Given the description of an element on the screen output the (x, y) to click on. 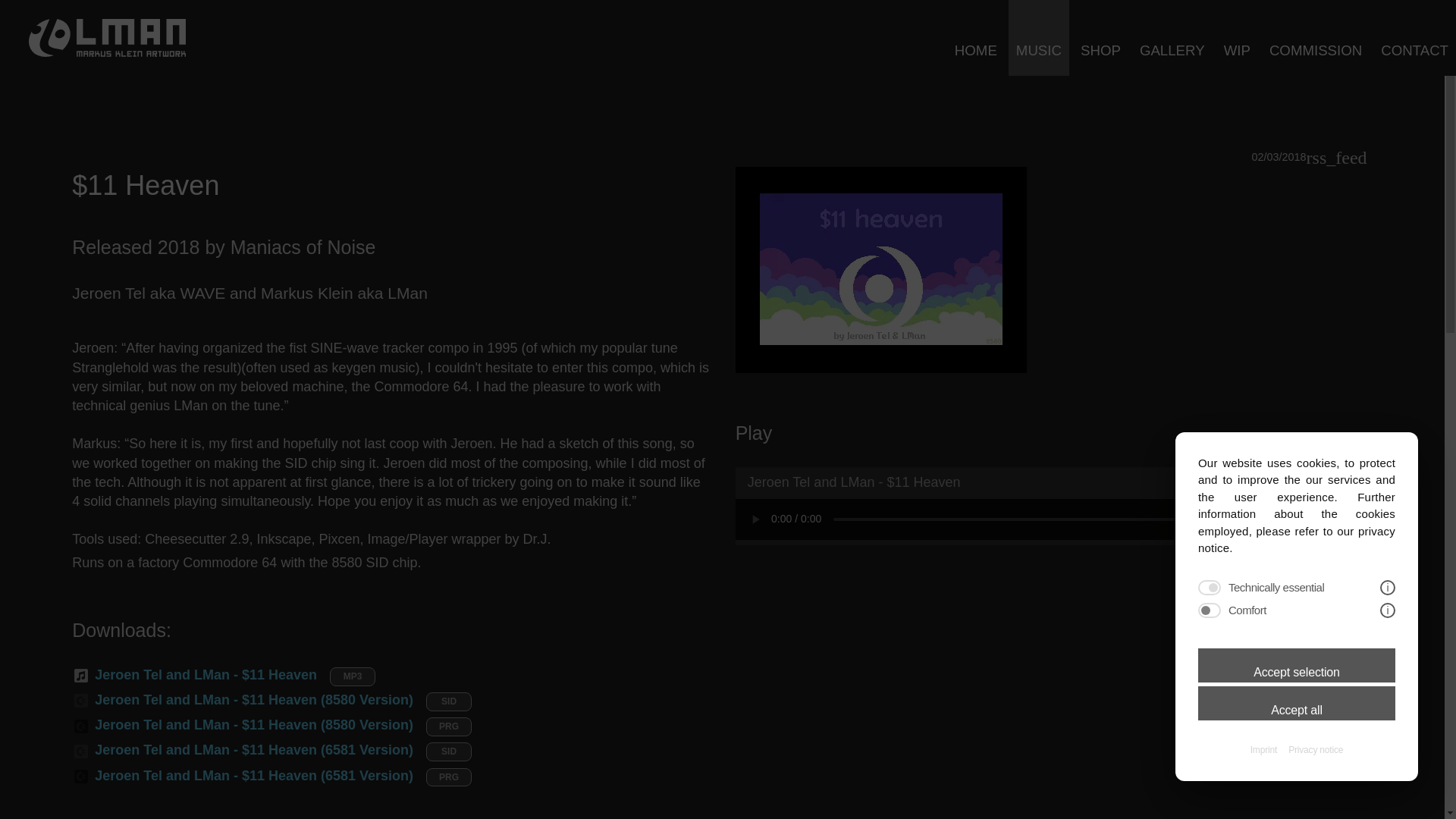
Privacy notice (1315, 749)
on (1209, 587)
COMMISSION (1316, 38)
Privacy notice (1315, 749)
on (1209, 610)
Accept all (1296, 703)
Imprint (1263, 749)
Accept selection (1296, 665)
Imprint (1263, 749)
GALLERY (1172, 38)
